Given the description of an element on the screen output the (x, y) to click on. 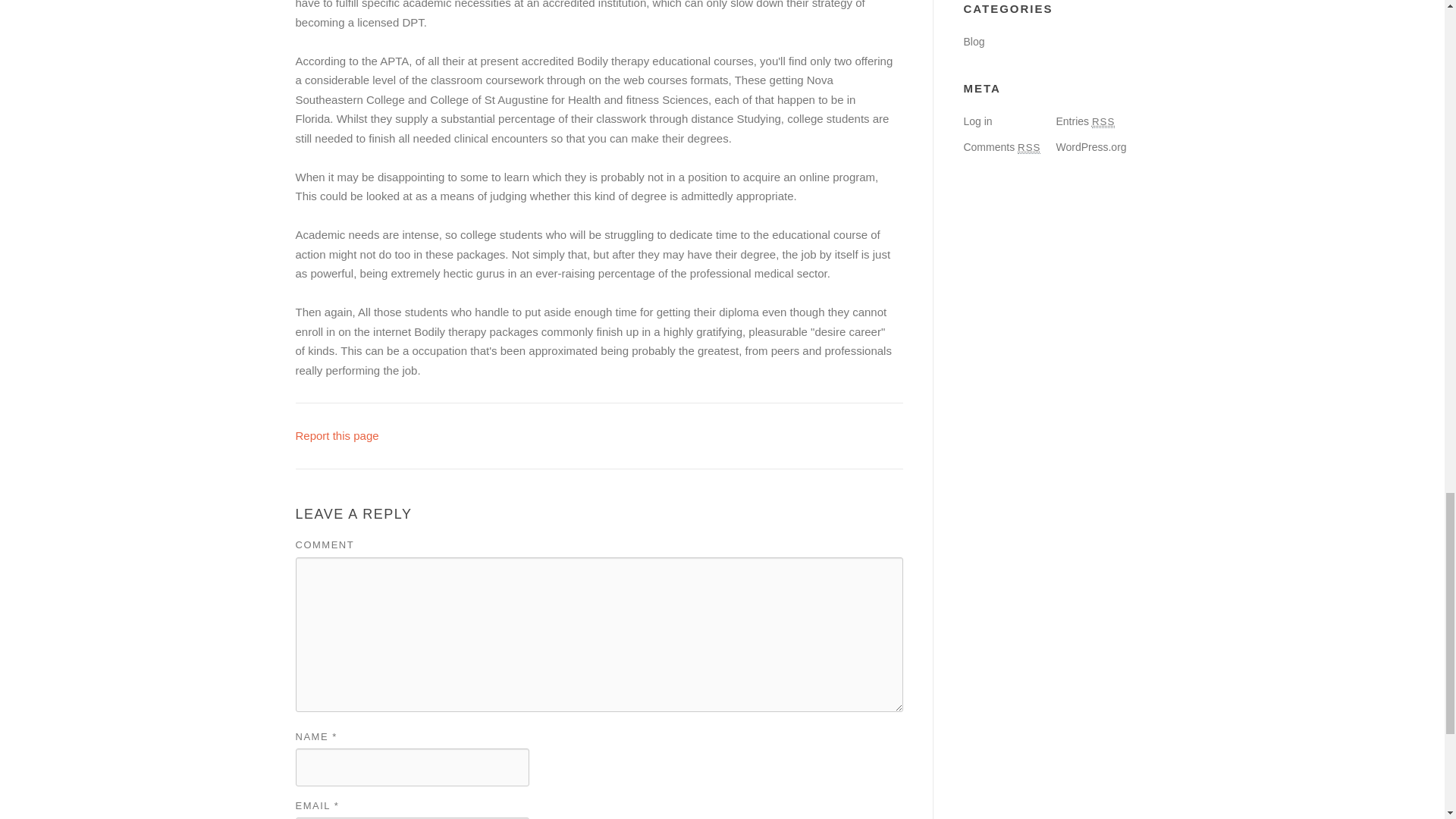
Blog (973, 41)
Really Simple Syndication (1103, 121)
Entries RSS (1085, 121)
Report this page (336, 435)
Log in (976, 121)
Comments RSS (1001, 146)
Really Simple Syndication (1029, 147)
WordPress.org (1090, 146)
